Given the description of an element on the screen output the (x, y) to click on. 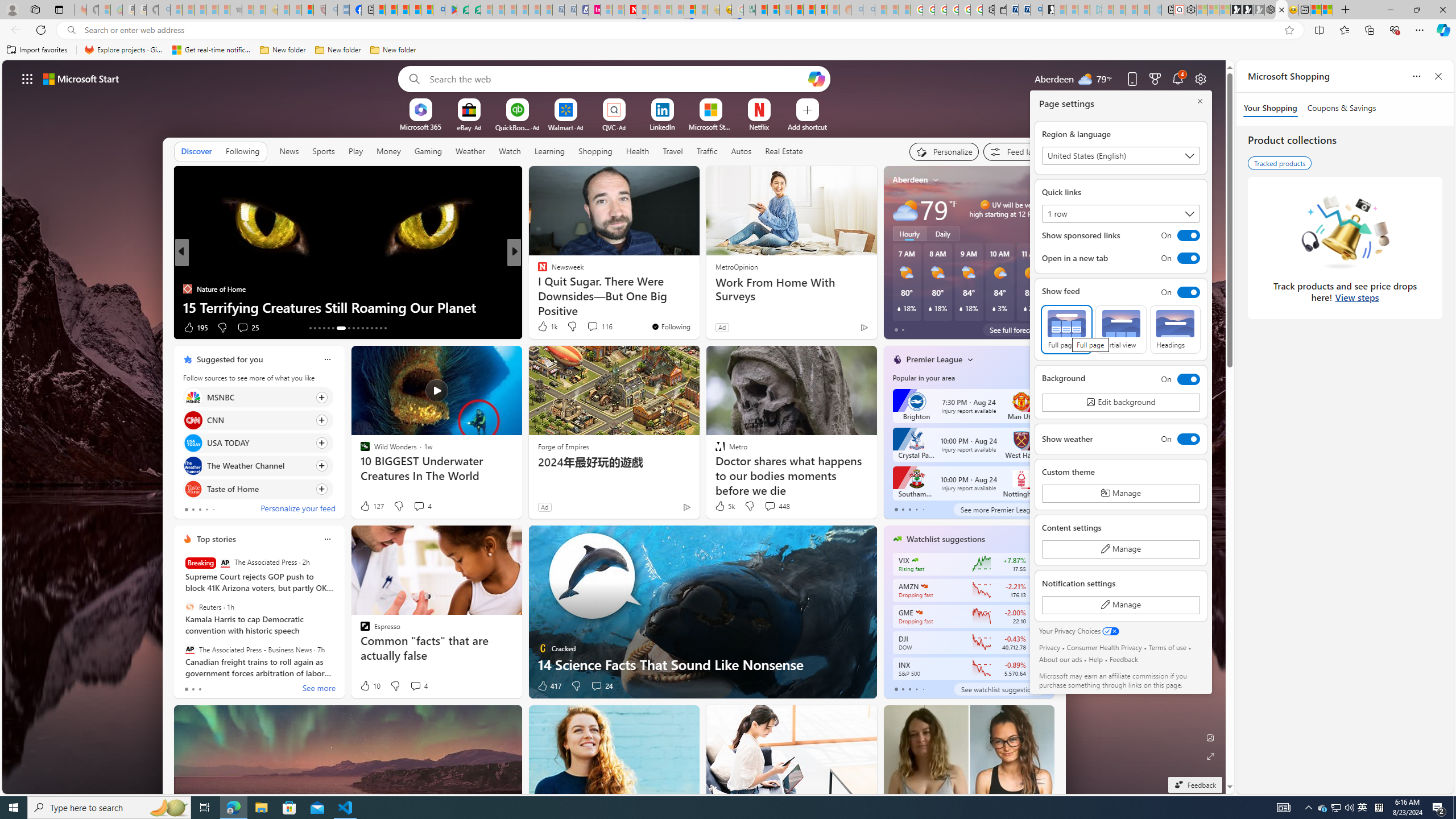
Click to follow source MSNBC (257, 397)
Watch (509, 151)
Play (355, 151)
AMAZON.COM, INC. (923, 586)
Hourly (909, 233)
Click to follow source Taste of Home (257, 488)
CBOE Market Volatility Index (914, 559)
Feed settings (1018, 151)
Microsoft-Report a Concern to Bing - Sleeping (104, 9)
View comments 134 Comment (589, 327)
Reuters (189, 606)
